Given the description of an element on the screen output the (x, y) to click on. 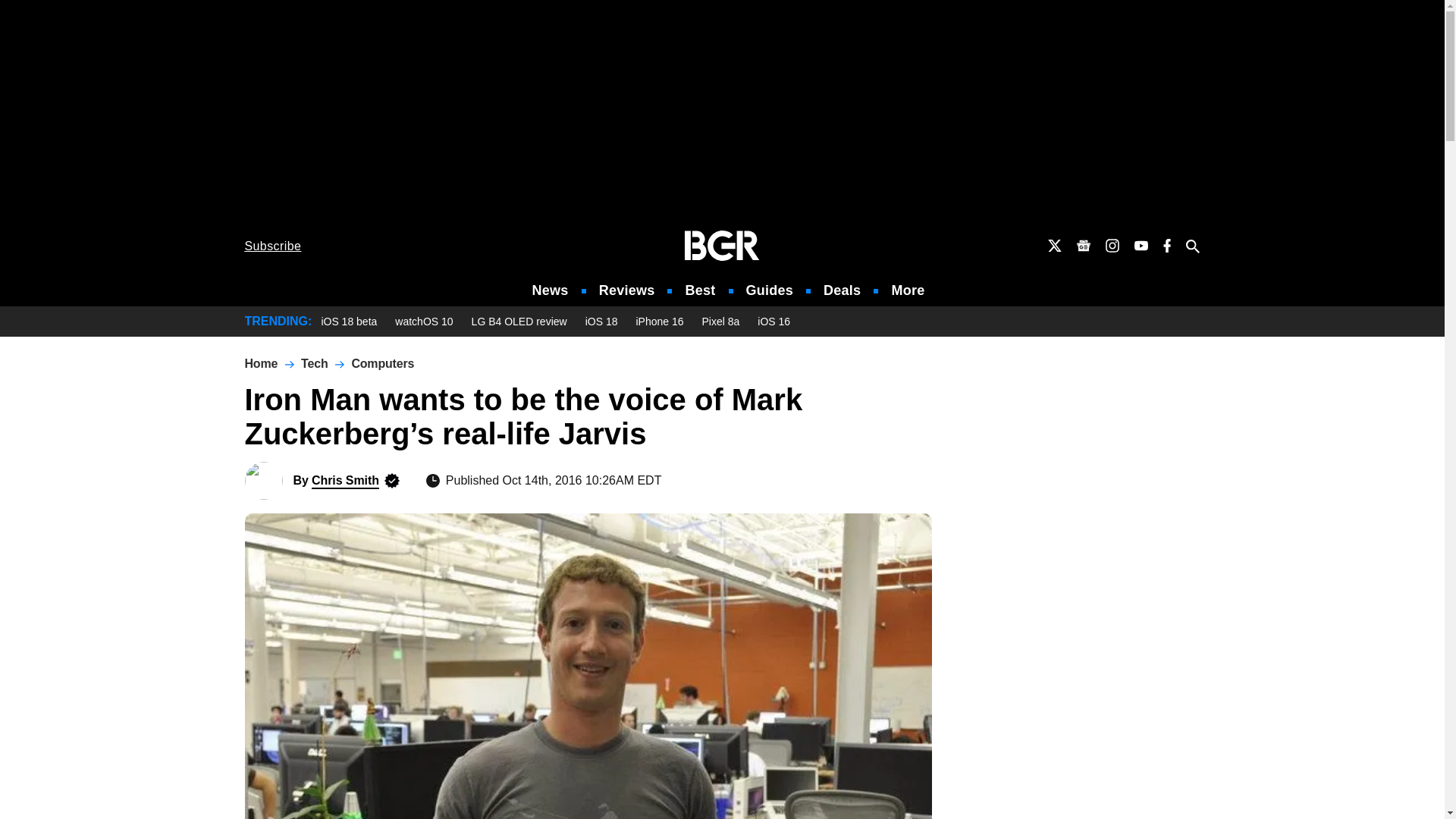
News (550, 290)
Guides (769, 290)
Reviews (626, 290)
Subscribe (272, 245)
Posts by Chris Smith (344, 480)
Best (699, 290)
Deals (842, 290)
More (907, 290)
